Given the description of an element on the screen output the (x, y) to click on. 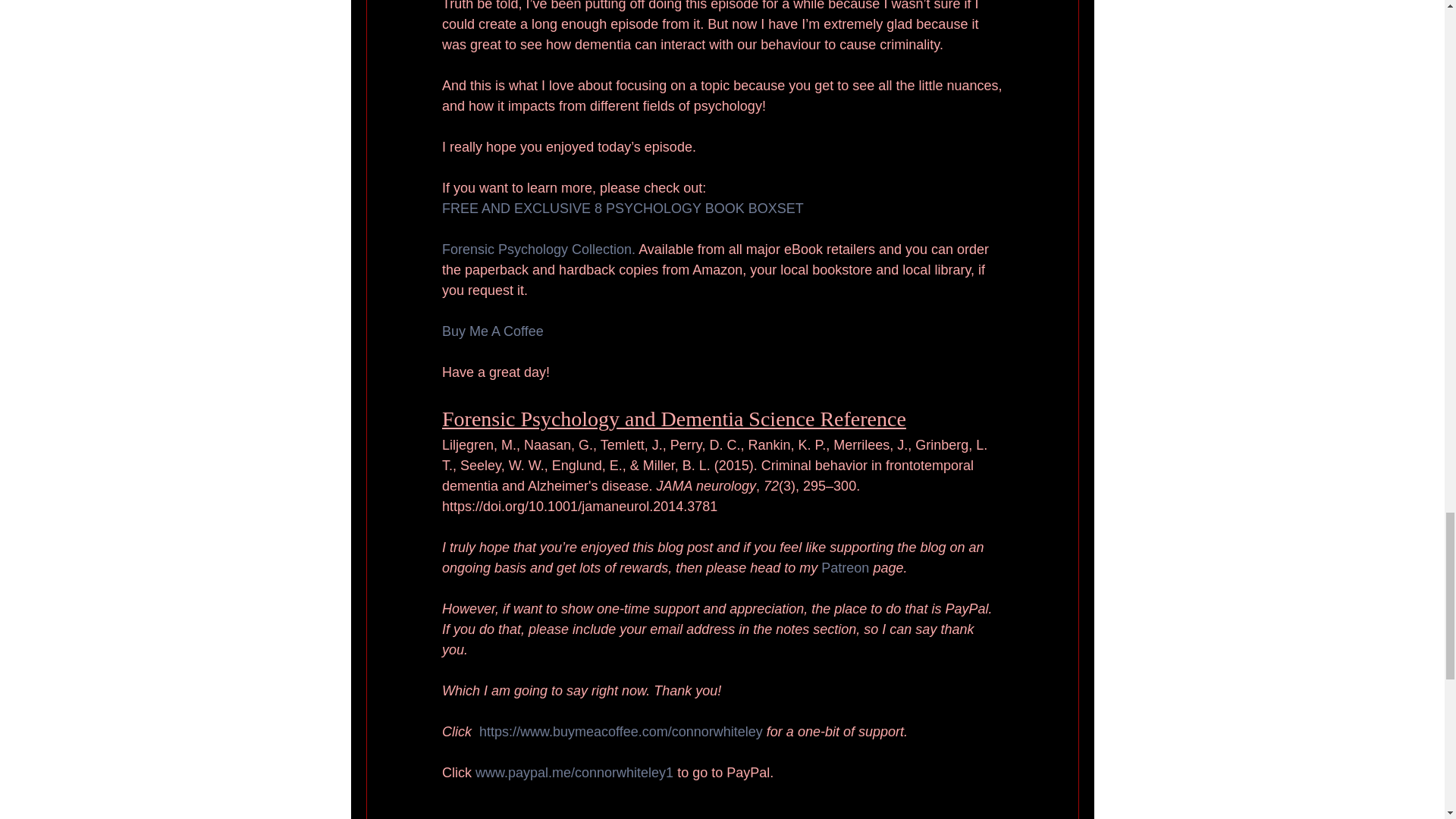
Patreon (845, 568)
Forensic Psychology Collection. (537, 249)
Buy Me A Coffee (492, 331)
FREE AND EXCLUSIVE 8 PSYCHOLOGY BOOK BOXSET (622, 209)
